Given the description of an element on the screen output the (x, y) to click on. 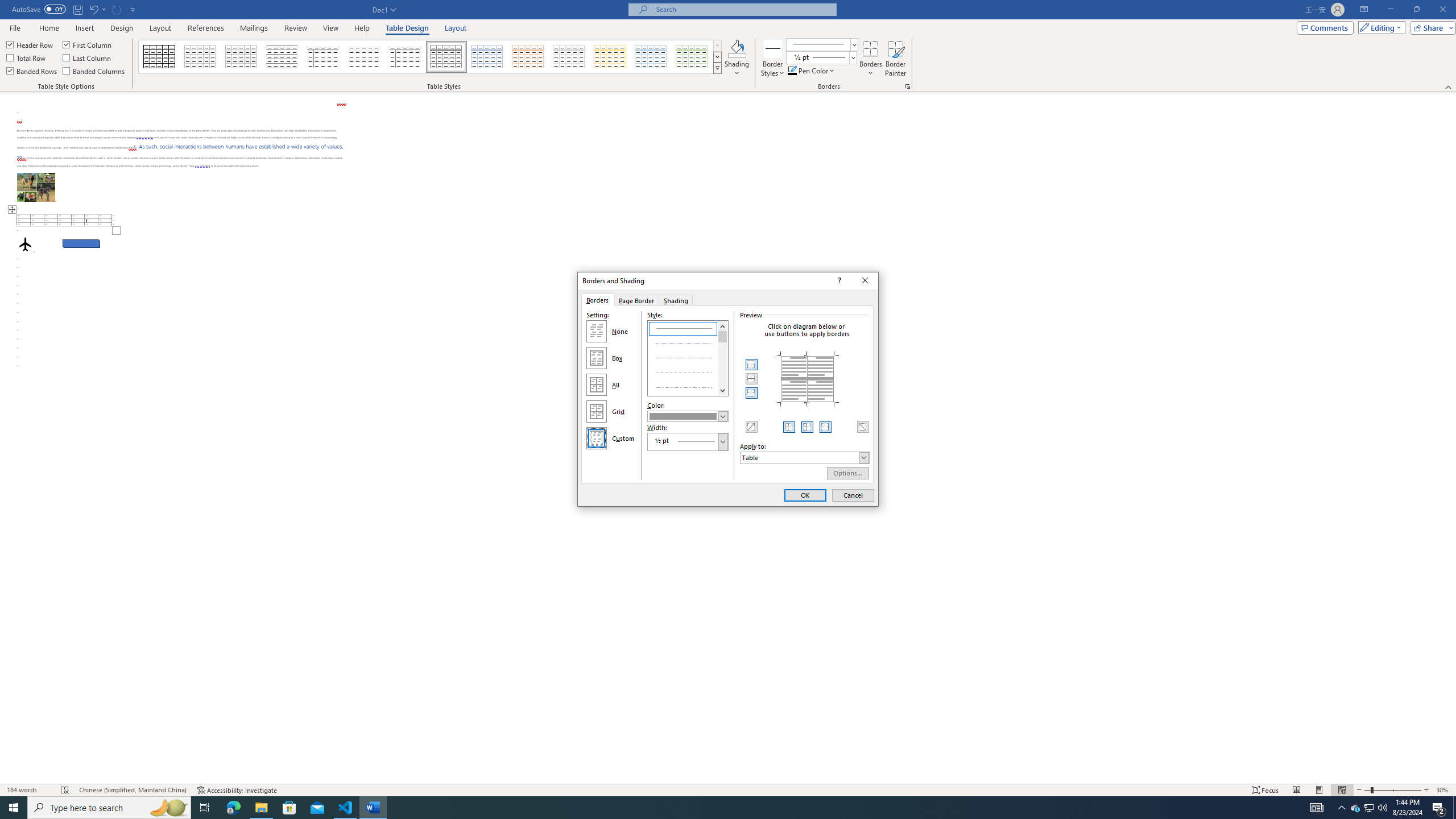
MSO Generic Control Container (751, 364)
Type here to search (108, 807)
Context help (838, 280)
Row up (717, 45)
Microsoft search (742, 9)
AutomationID: TableStylesGalleryWord (430, 56)
Header Row (30, 44)
Plain Table 3 (322, 56)
AutomationID: 4105 (1316, 807)
Can't Repeat (117, 9)
Table Grid Light (200, 56)
